Given the description of an element on the screen output the (x, y) to click on. 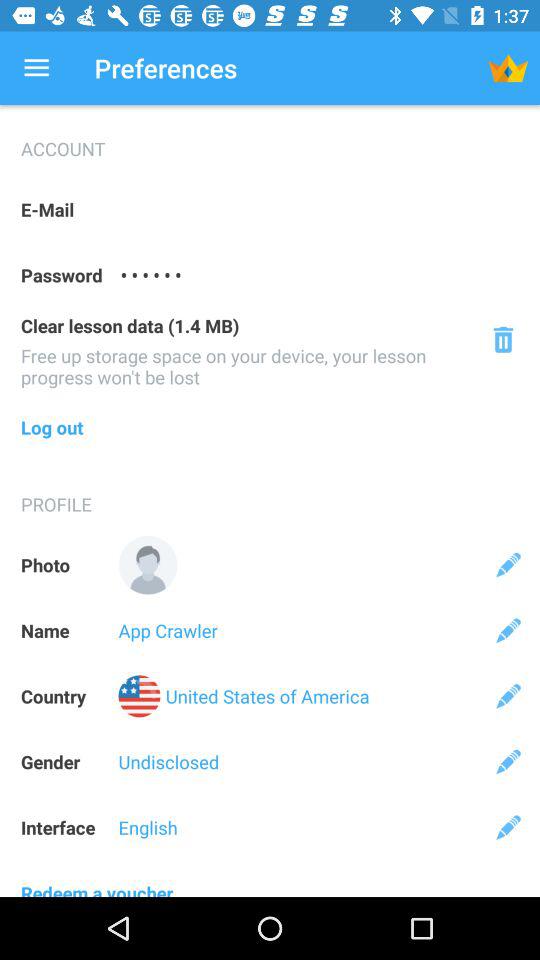
click item above account (36, 68)
